Given the description of an element on the screen output the (x, y) to click on. 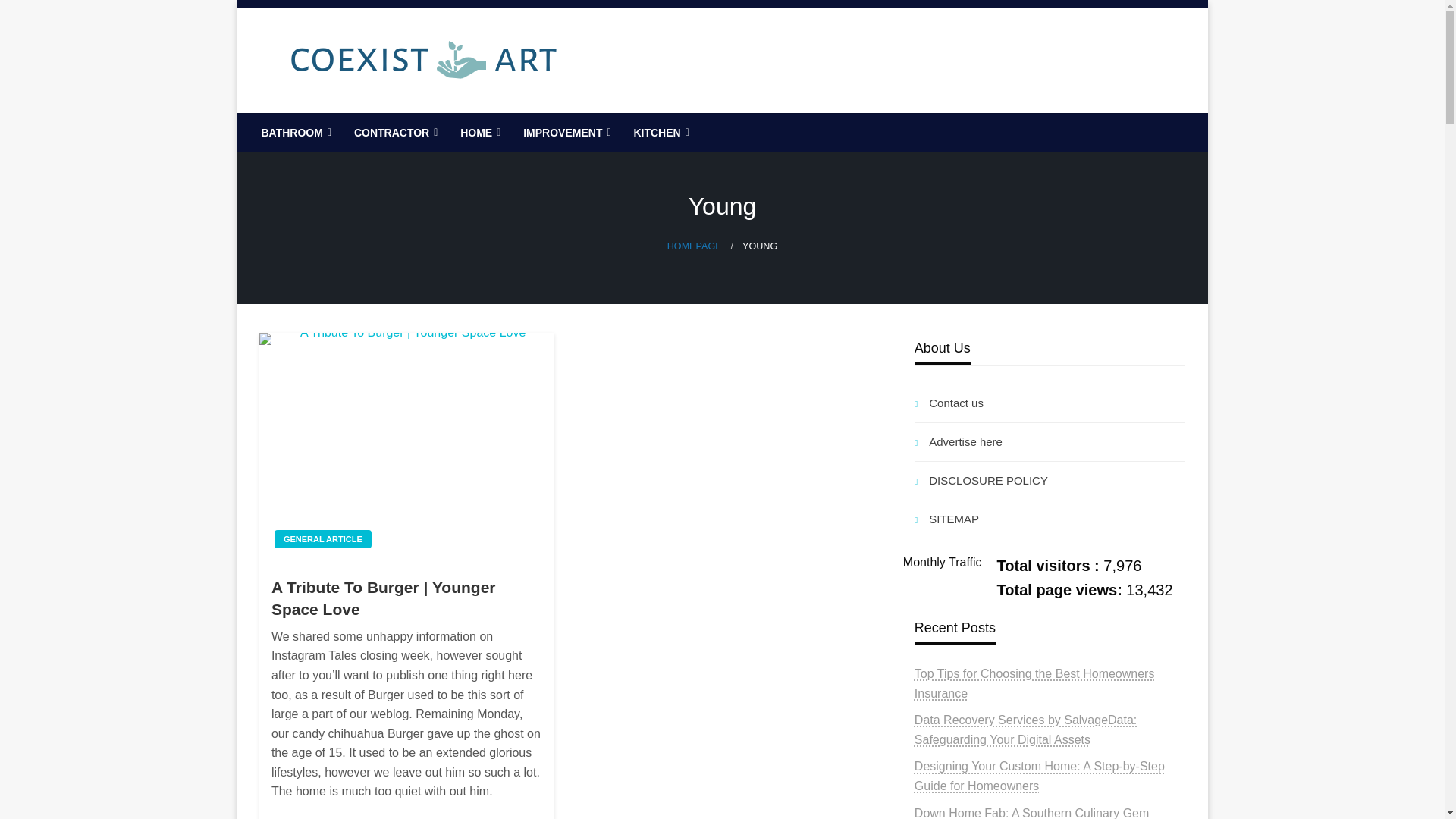
Advertise here (1049, 441)
DISCLOSURE POLICY (1049, 480)
Homepage (694, 245)
IMPROVEMENT (565, 132)
BATHROOM (294, 132)
HOMEPAGE (694, 245)
KITCHEN (659, 132)
CONTRACTOR (393, 132)
Contact us (1049, 403)
